Given the description of an element on the screen output the (x, y) to click on. 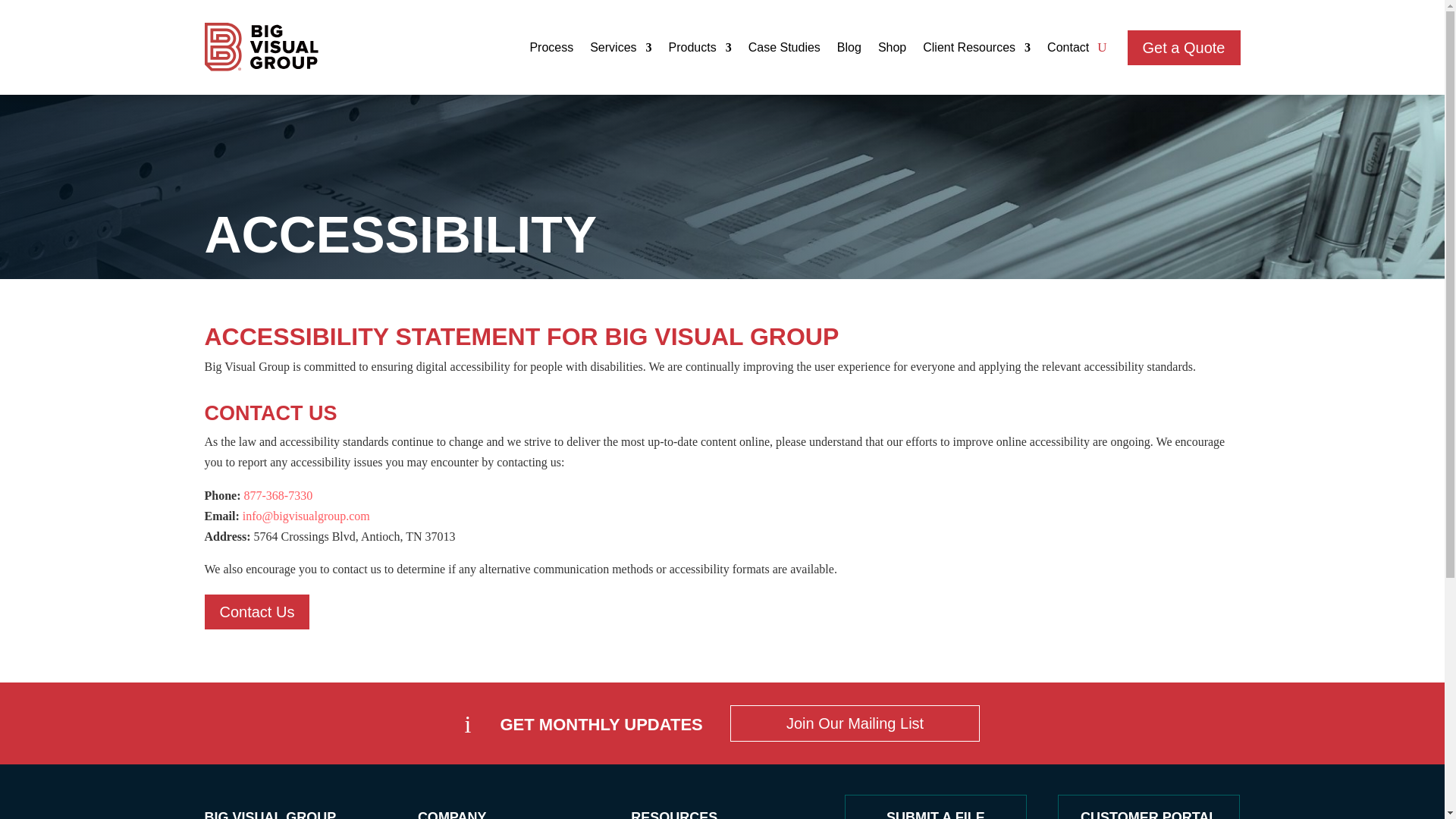
Contact (1067, 50)
Process (551, 50)
Blog (849, 50)
Products (700, 50)
Client Resources (976, 50)
Case Studies (784, 50)
Shop (891, 50)
Services (619, 50)
Created with Sketch. (261, 46)
